Given the description of an element on the screen output the (x, y) to click on. 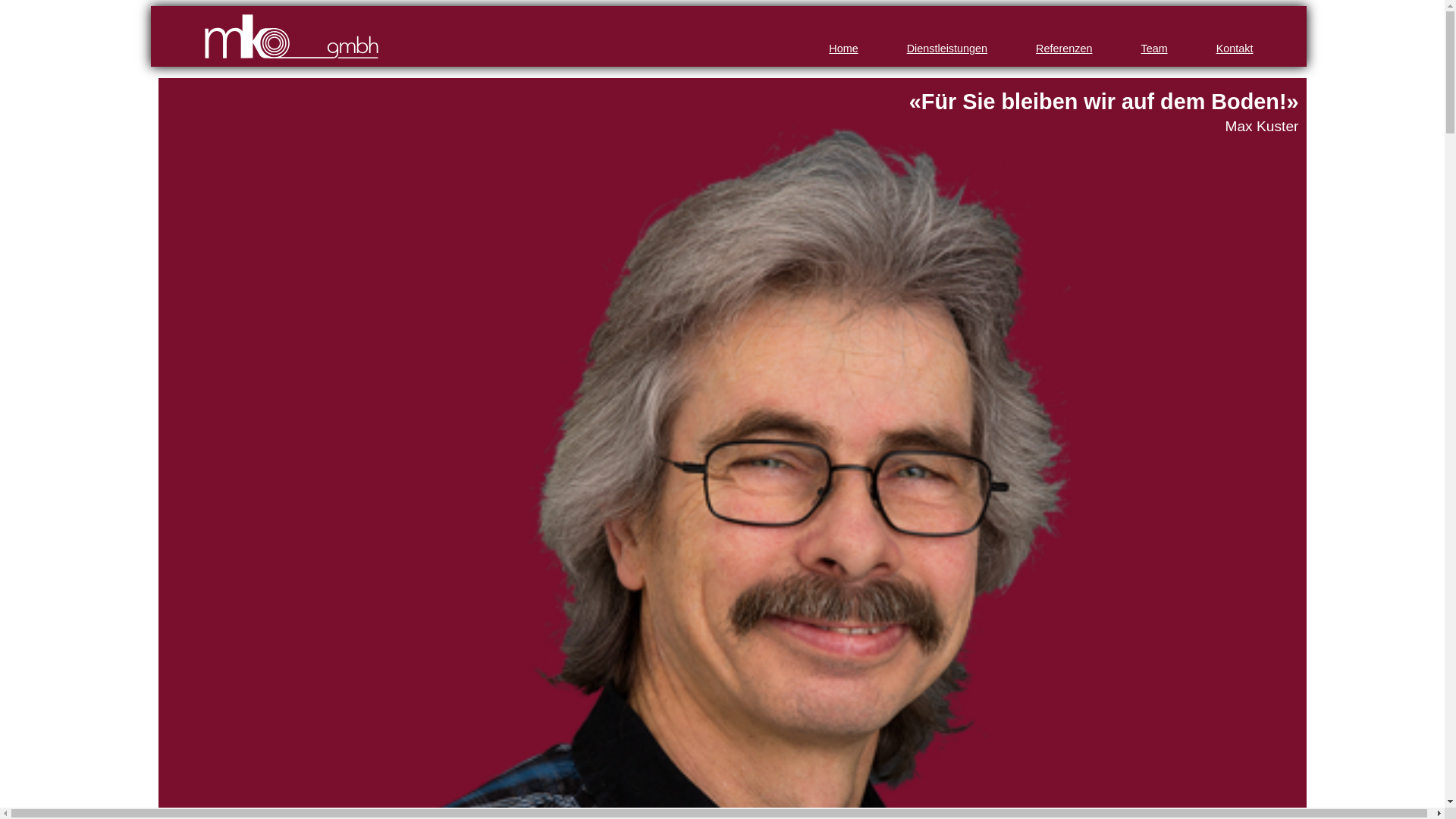
Kontakt Element type: text (1234, 48)
Team Element type: text (1153, 48)
Dienstleistungen Element type: text (946, 48)
Home Element type: text (842, 48)
Referenzen Element type: text (1063, 48)
